Given the description of an element on the screen output the (x, y) to click on. 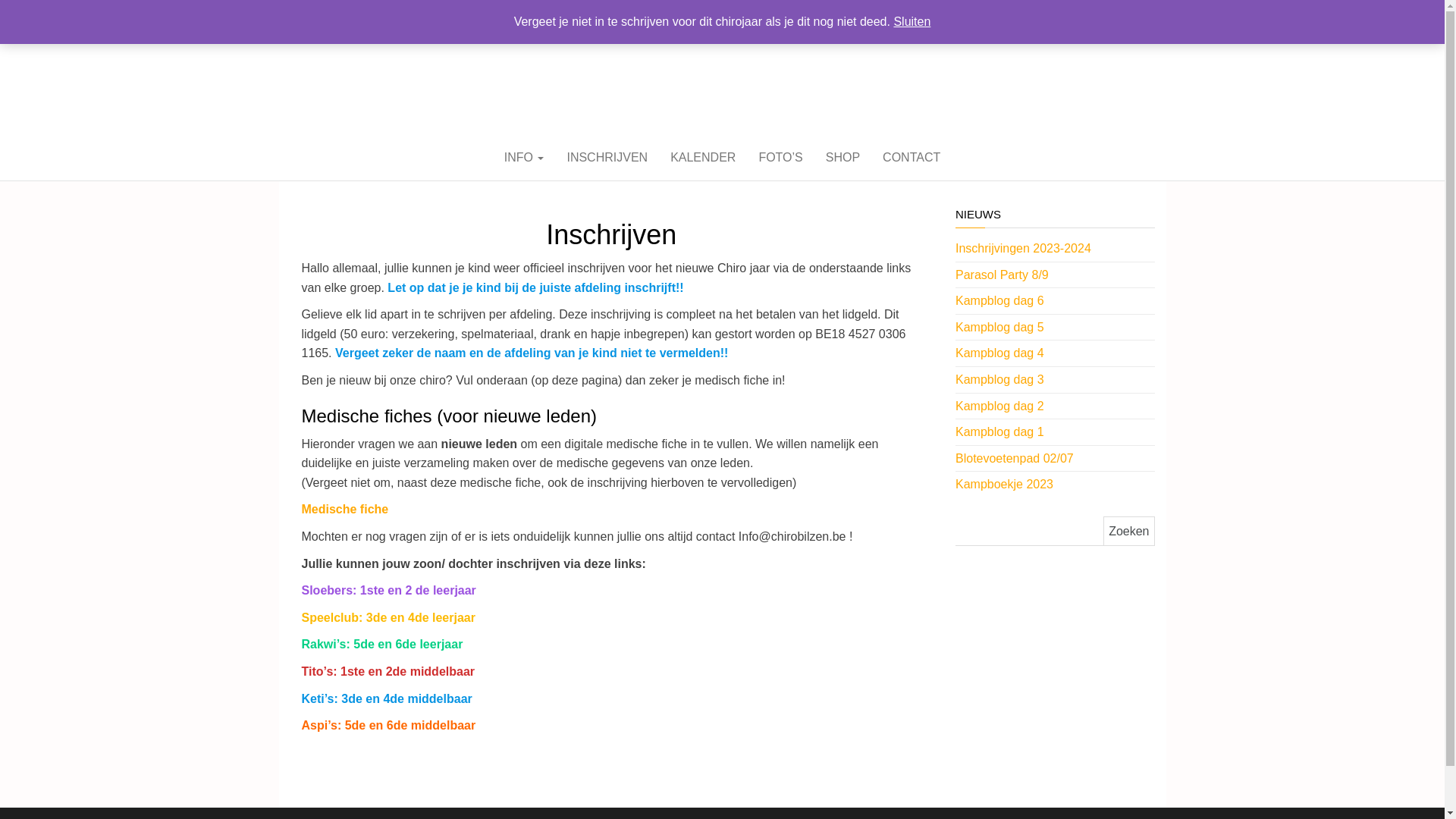
INFO Element type: text (523, 157)
Sloebers: 1ste en 2 de leerjaar Element type: text (388, 589)
Kampblog dag 6 Element type: text (999, 300)
Kampblog dag 5 Element type: text (999, 326)
Sluiten Element type: text (911, 21)
Zoeken Element type: text (1128, 531)
Inschrijvingen 2023-2024 Element type: text (1023, 247)
Parasol Party 8/9 Element type: text (1001, 274)
Medische fiche Element type: text (345, 508)
Kampboekje 2023 Element type: text (1004, 483)
Blotevoetenpad 02/07 Element type: text (1014, 457)
Kampblog dag 2 Element type: text (999, 405)
SHOP Element type: text (842, 157)
CHIRO BILZEN Element type: text (721, 56)
Kampblog dag 1 Element type: text (999, 431)
Speelclub: 3de en 4de leerjaar Element type: text (388, 617)
Kampblog dag 3 Element type: text (999, 379)
Kampblog dag 4 Element type: text (999, 352)
KALENDER Element type: text (702, 157)
INSCHRIJVEN Element type: text (606, 157)
CONTACT Element type: text (911, 157)
